Given the description of an element on the screen output the (x, y) to click on. 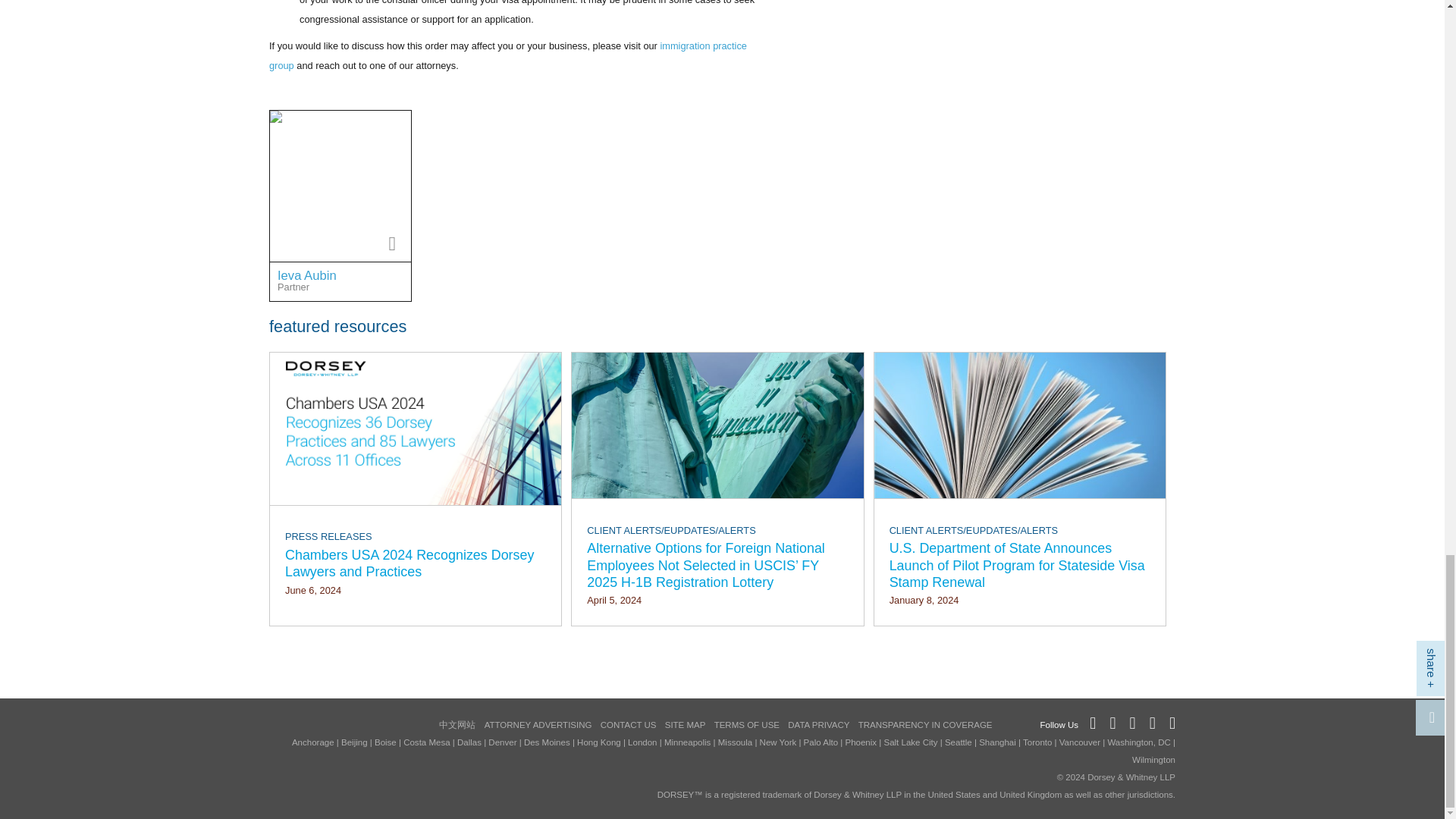
Seattle (375, 127)
immigration practice group (507, 55)
Chambers USA 2024 Recognizes Dorsey Lawyers and Practices (415, 563)
